Given the description of an element on the screen output the (x, y) to click on. 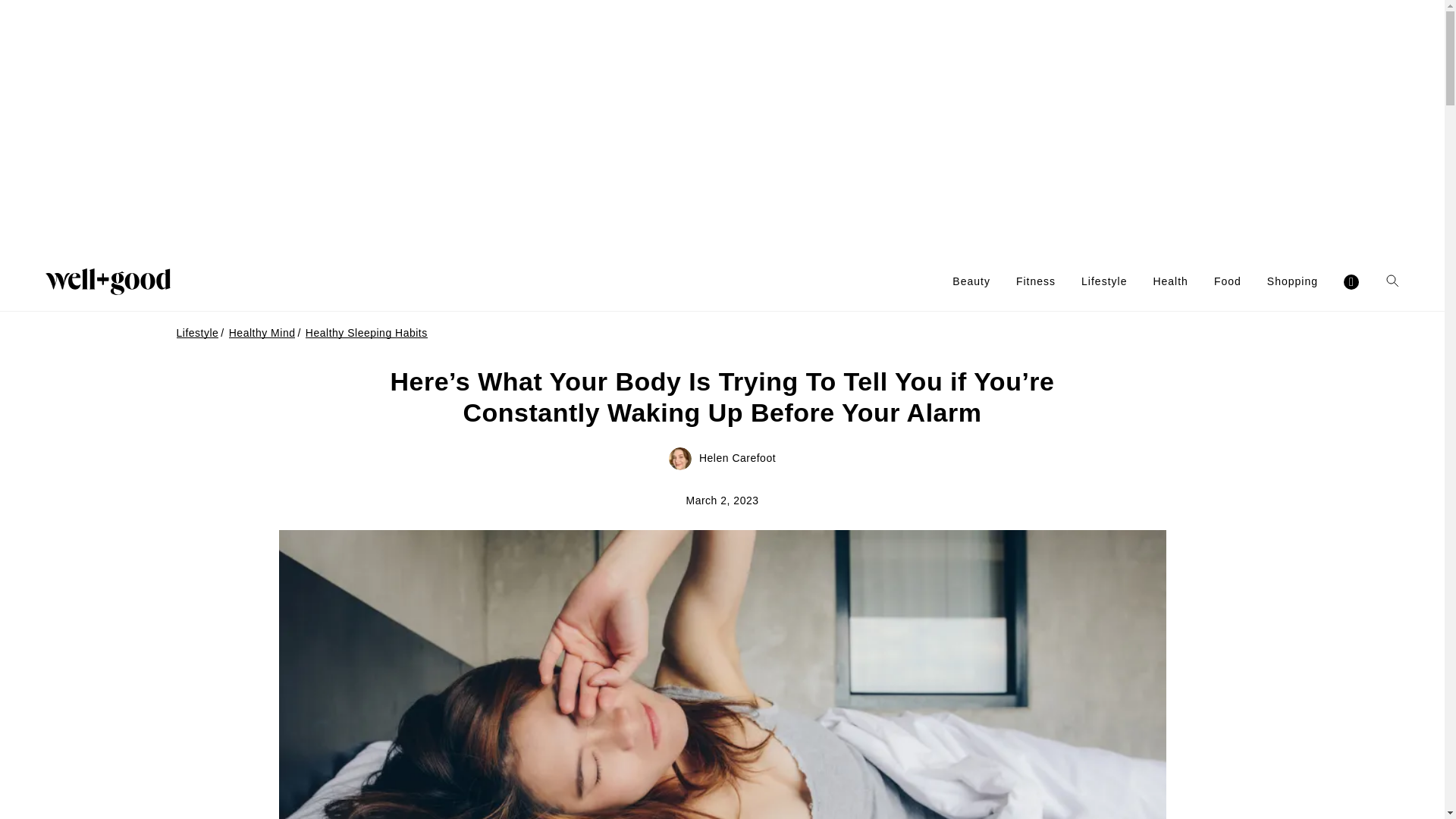
Fitness (1035, 281)
Health (1170, 281)
Lifestyle (1103, 281)
Beauty (971, 281)
Shopping (1291, 281)
Food (1227, 281)
